Given the description of an element on the screen output the (x, y) to click on. 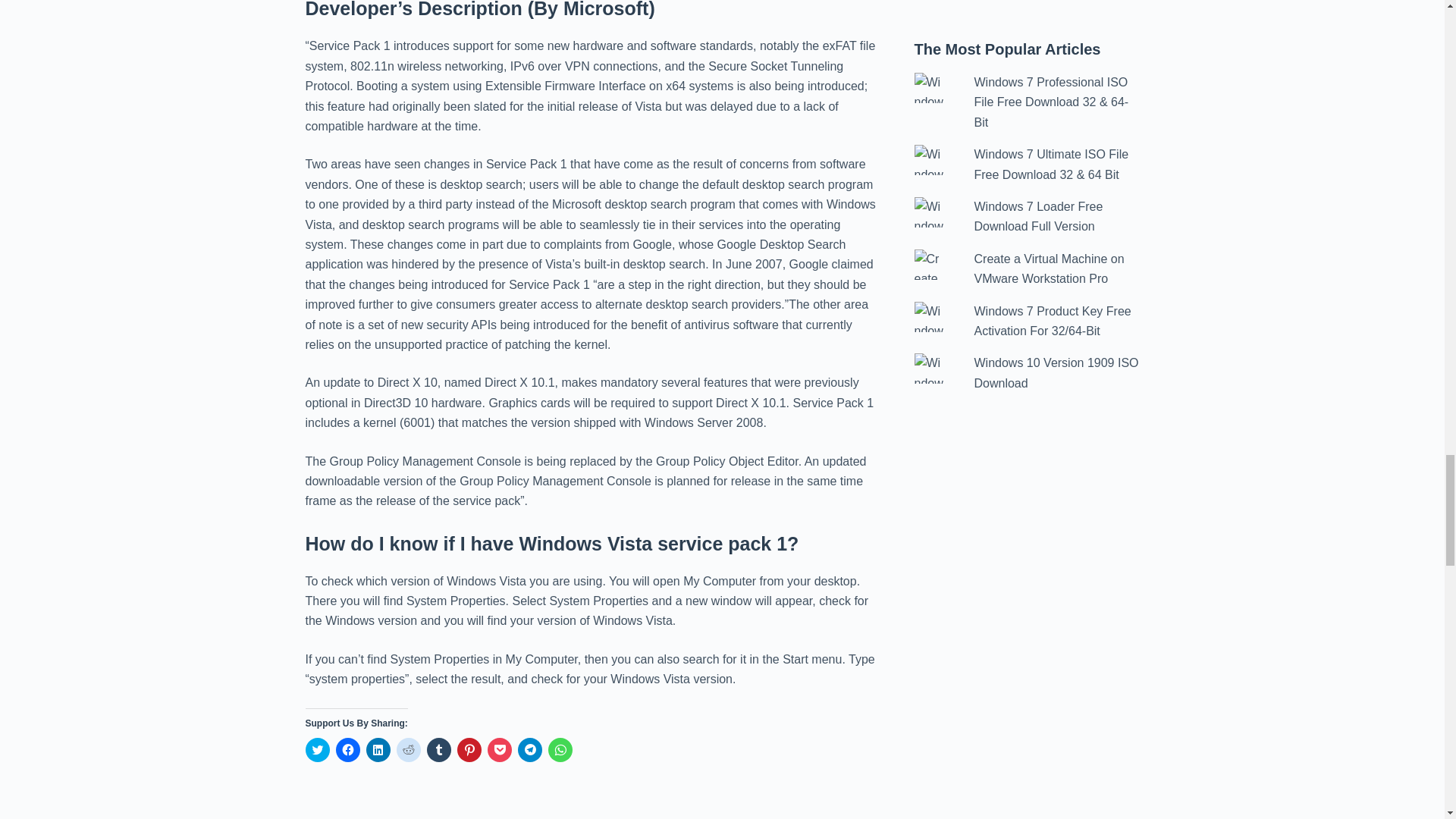
Click to share on Tumblr (437, 749)
Click to share on Pocket (498, 749)
Click to share on Telegram (528, 749)
Click to share on LinkedIn (377, 749)
Click to share on Facebook (346, 749)
Click to share on Twitter (316, 749)
Click to share on WhatsApp (559, 749)
Click to share on Reddit (408, 749)
Click to share on Pinterest (468, 749)
